Given the description of an element on the screen output the (x, y) to click on. 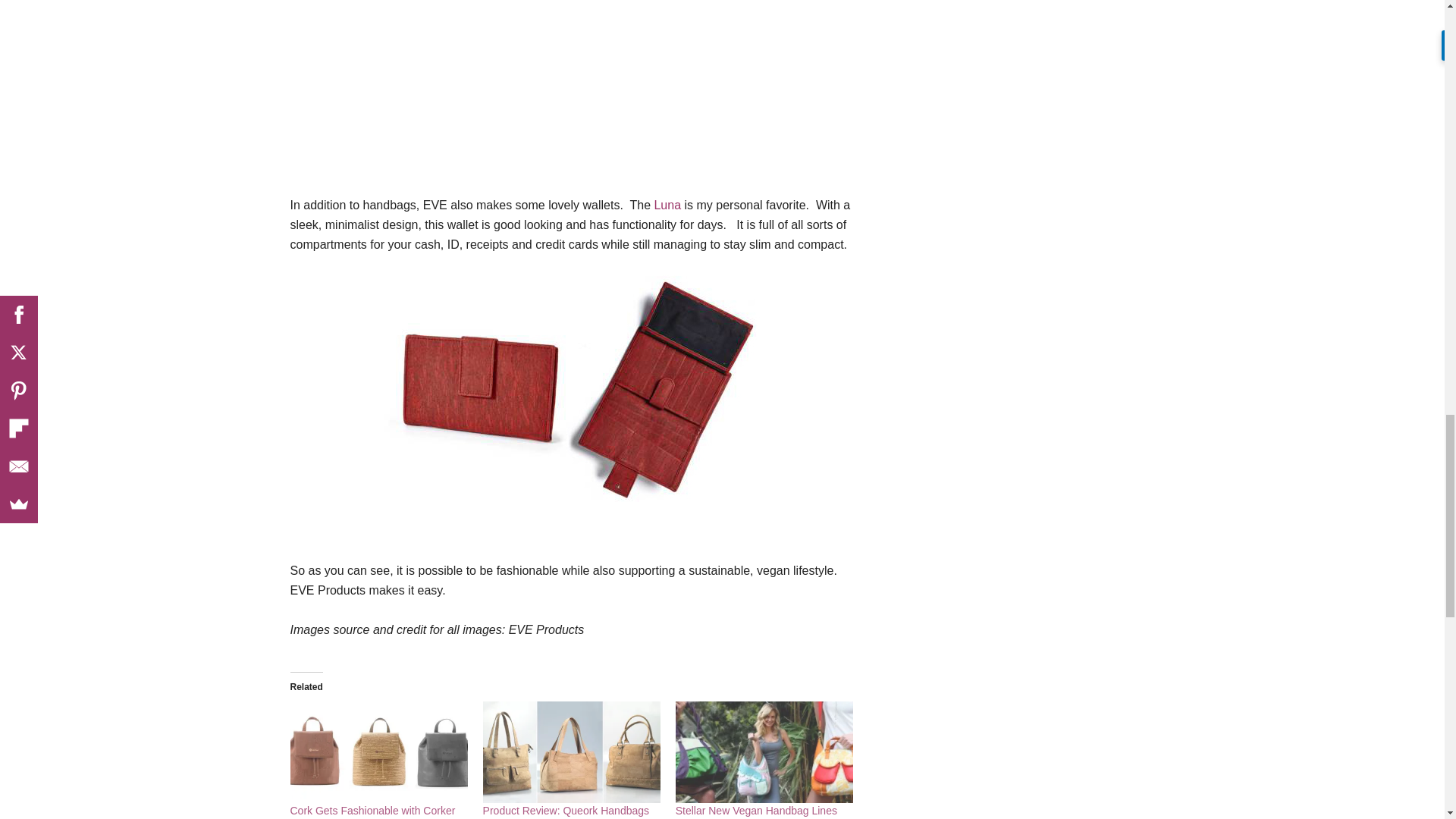
Stellar New Vegan Handbag Lines (756, 810)
Stellar New Vegan Handbag Lines (756, 810)
Luna (667, 205)
Product Review: Queork Handbags (572, 752)
Cork Gets Fashionable with Corker Vegan Handbags (371, 811)
Stellar New Vegan Handbag Lines (764, 752)
Cork Gets Fashionable with Corker Vegan Handbags (371, 811)
Product Review: Queork Handbags (566, 810)
Cork Gets Fashionable with Corker Vegan Handbags (378, 752)
Product Review: Queork Handbags (566, 810)
